Given the description of an element on the screen output the (x, y) to click on. 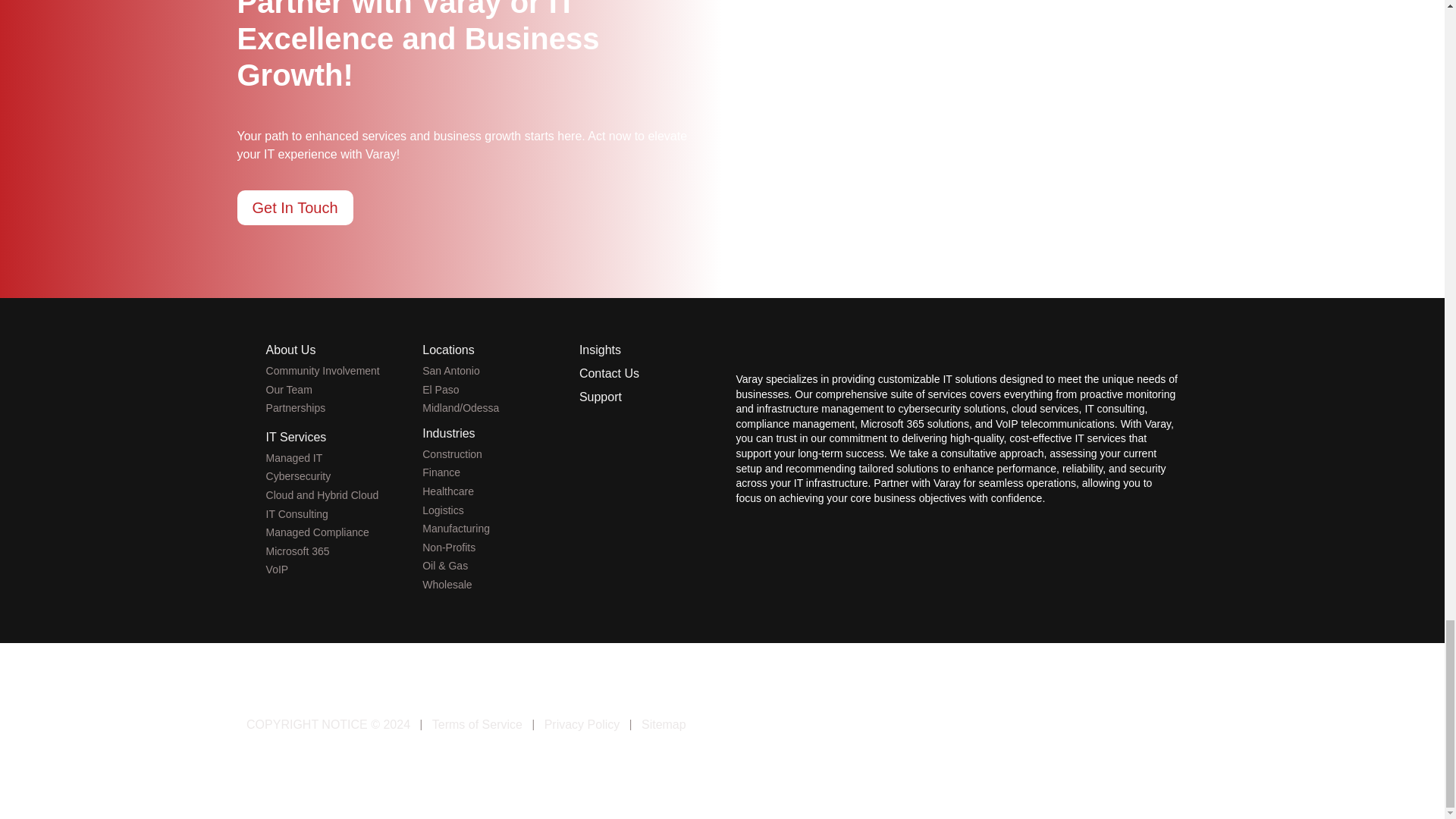
Follow on LinkedIn (1134, 727)
Follow on X (1104, 727)
Follow on Instagram (1194, 727)
Follow on Facebook (1073, 727)
Follow on Youtube (1164, 727)
